Given the description of an element on the screen output the (x, y) to click on. 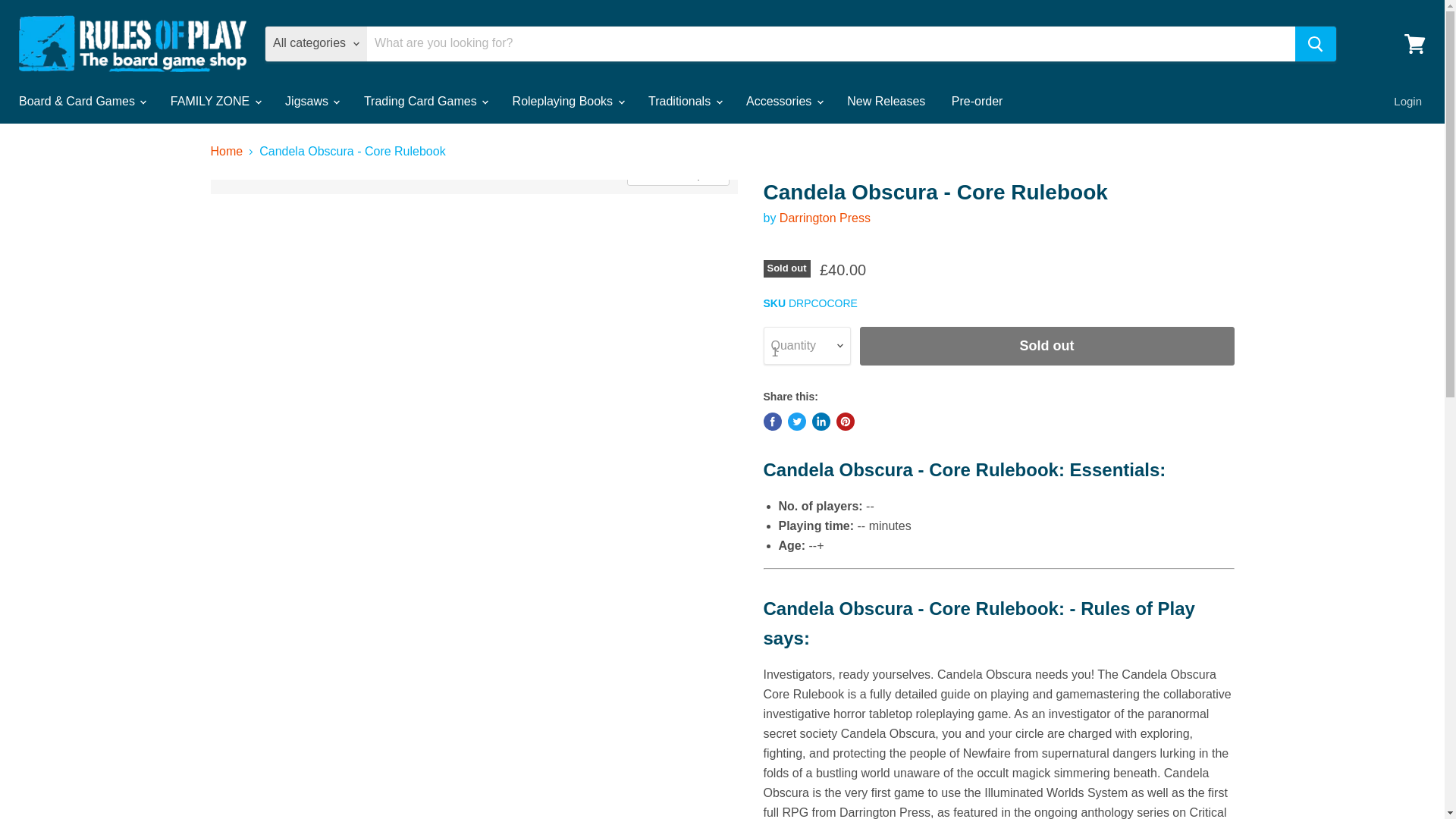
Darrington Press (824, 217)
View cart (1414, 42)
